Given the description of an element on the screen output the (x, y) to click on. 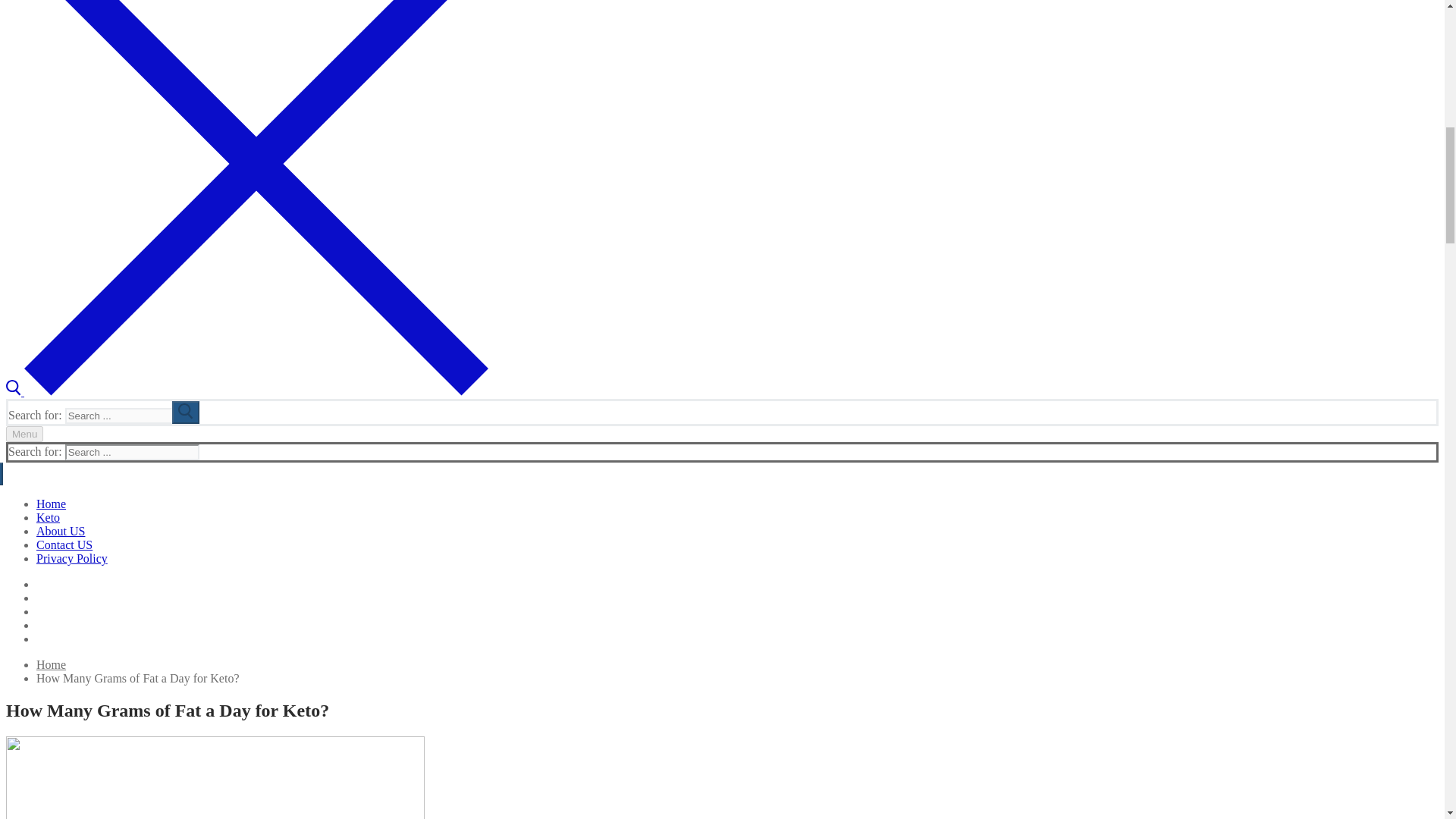
Keto (47, 517)
Search for: (132, 452)
About US (60, 530)
Home (50, 664)
Privacy Policy (71, 558)
Contact US (64, 544)
Home (50, 503)
Menu (24, 433)
Search for: (132, 415)
